Given the description of an element on the screen output the (x, y) to click on. 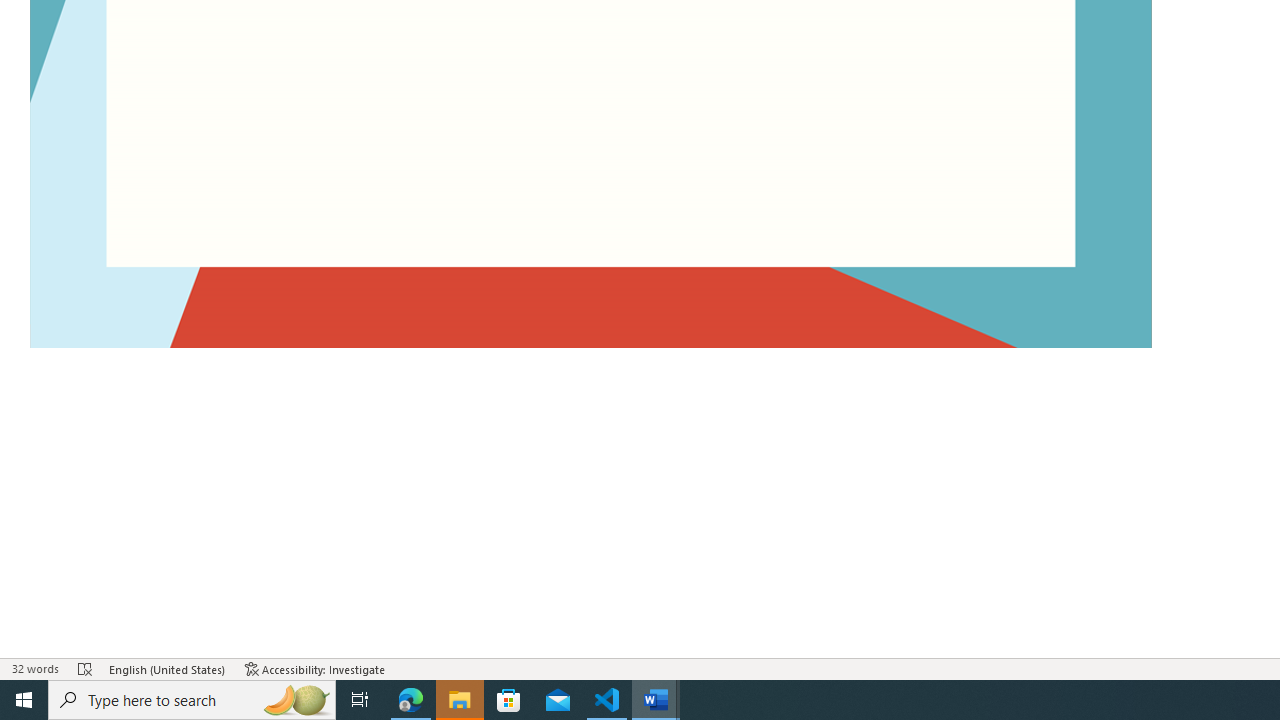
Word Count 32 words (34, 668)
